Given the description of an element on the screen output the (x, y) to click on. 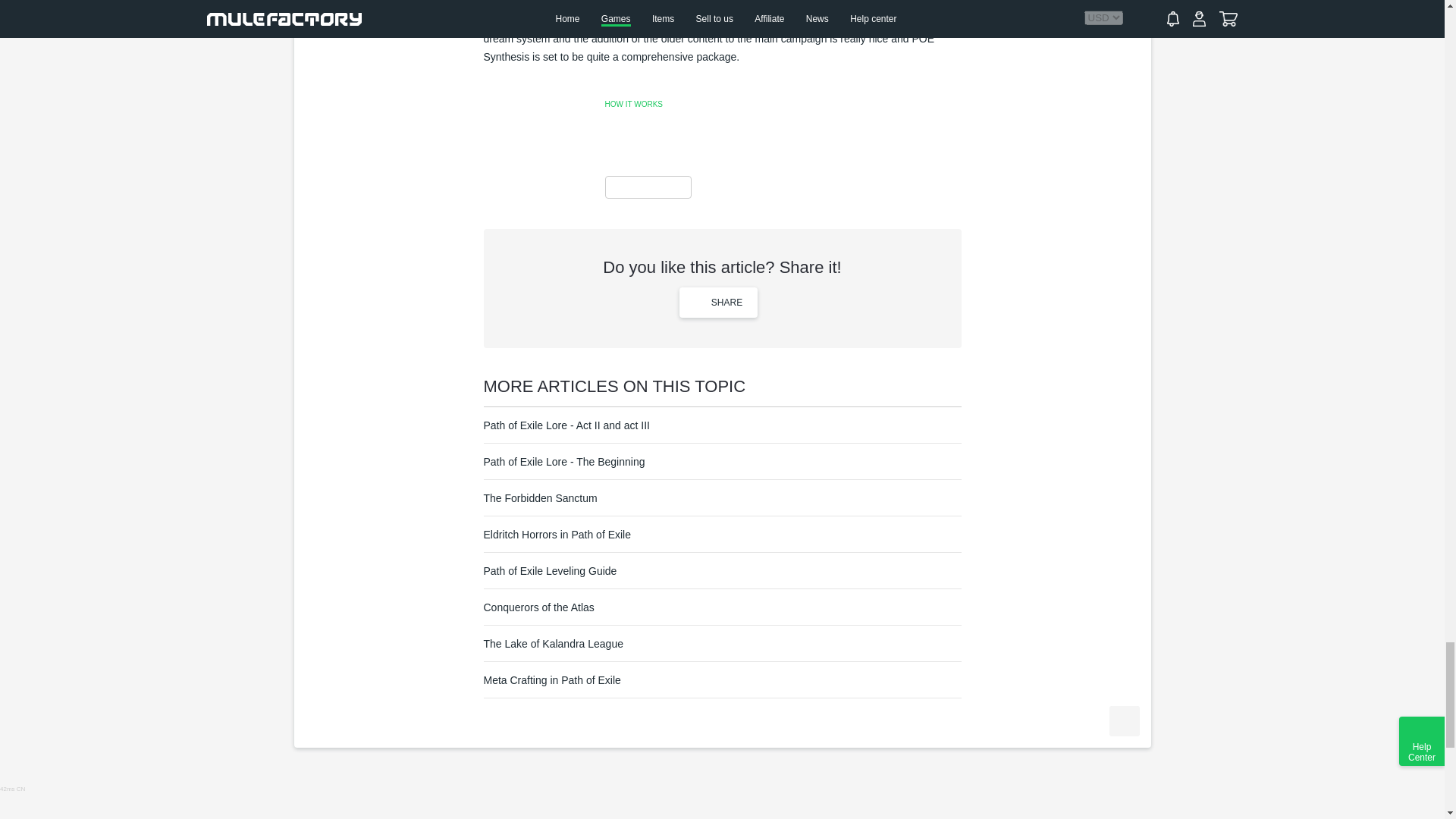
Add this item to your cart (1123, 720)
Add to cart (1123, 720)
